Given the description of an element on the screen output the (x, y) to click on. 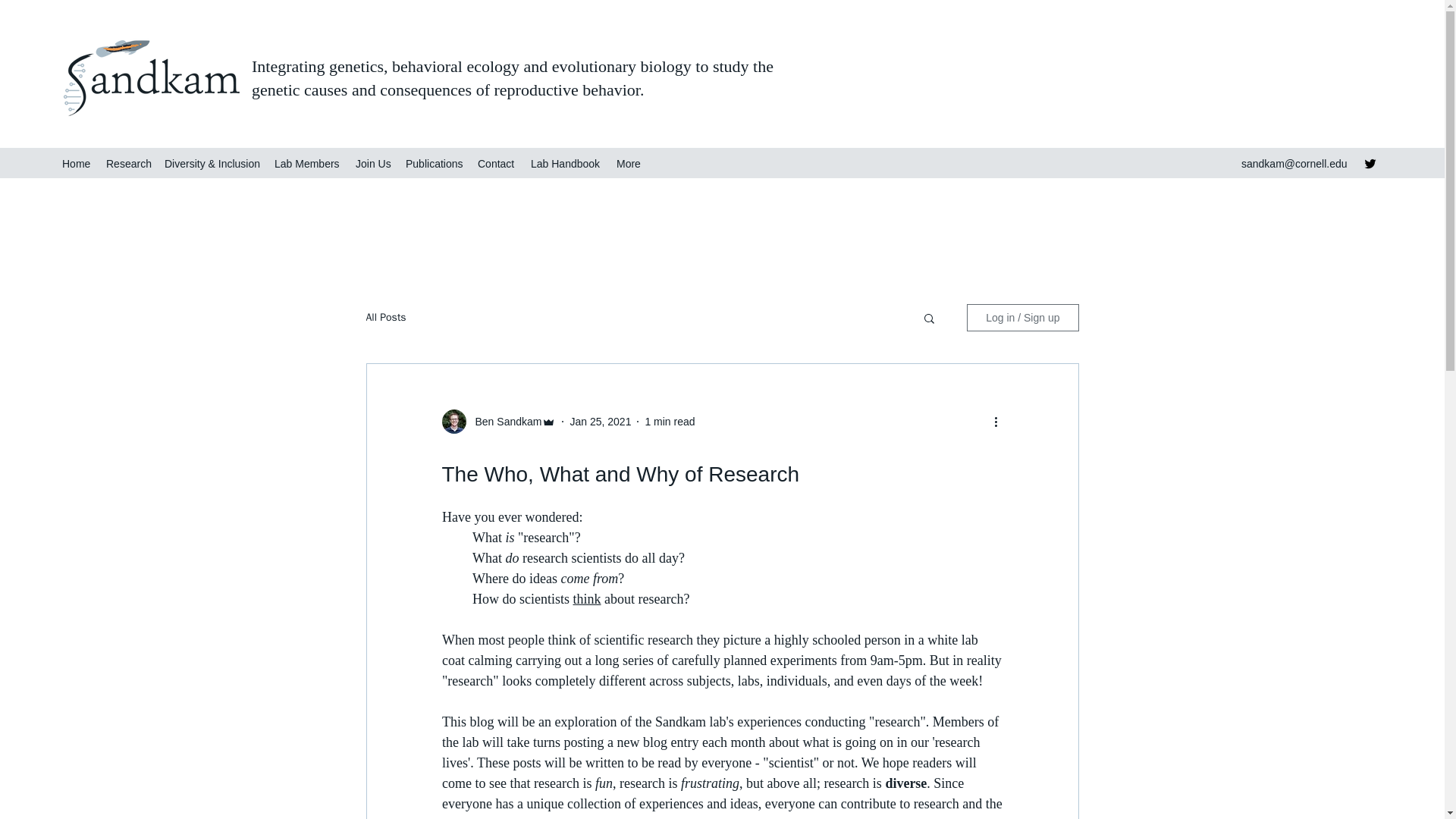
1 min read (669, 421)
Lab Handbook (565, 163)
All Posts (385, 317)
Contact (496, 163)
Jan 25, 2021 (599, 421)
Research (128, 163)
Publications (433, 163)
Join Us (372, 163)
Ben Sandkam (503, 421)
Lab Members (306, 163)
